Given the description of an element on the screen output the (x, y) to click on. 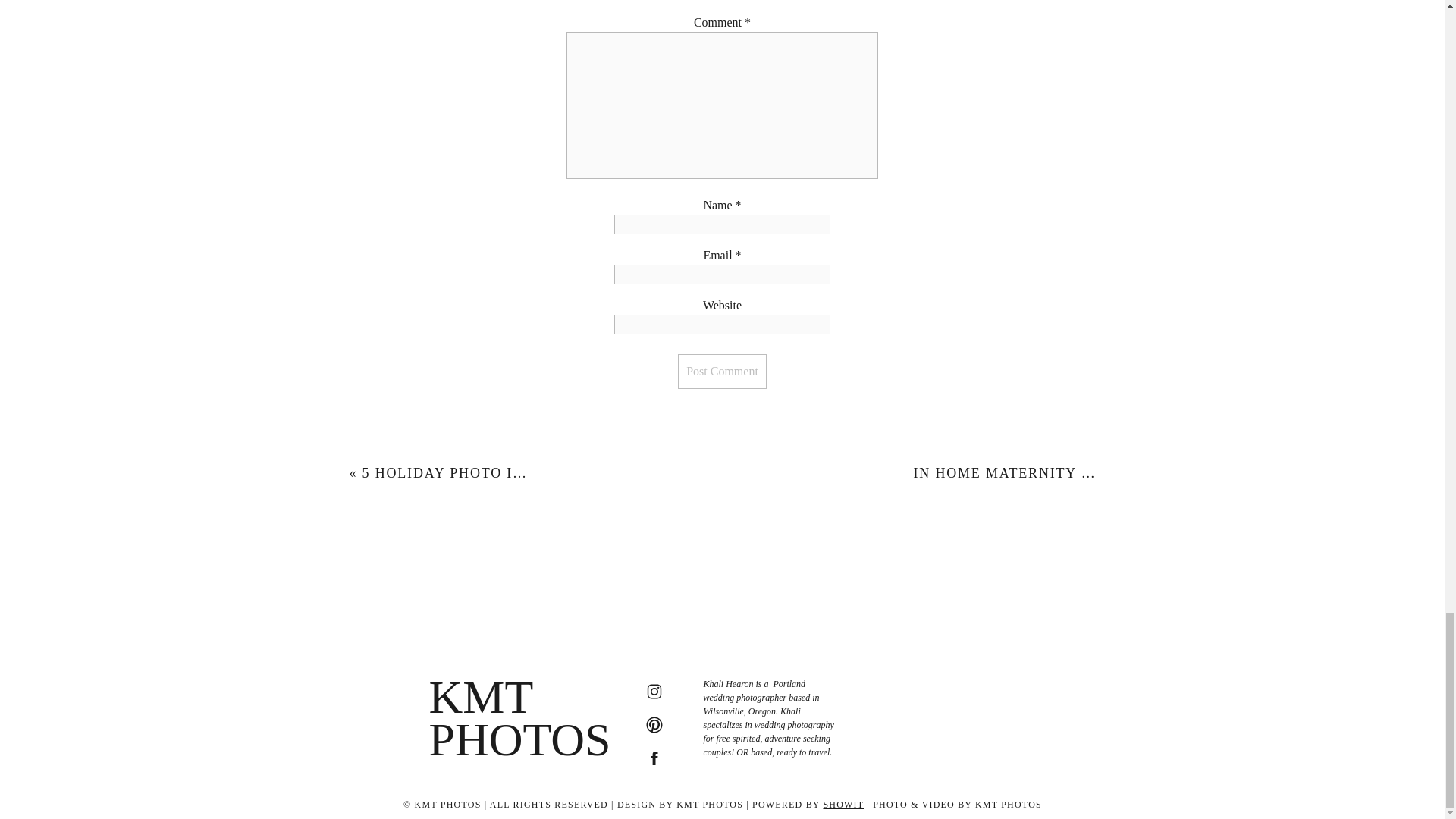
5 HOLIDAY PHOTO IDEAS FOR YOUR CHRISTMAS CARDS (576, 473)
Post Comment (722, 371)
IN HOME MATERNITY PHOTOS THAT WILL STEAL YOUR HEART (1149, 473)
Post Comment (722, 371)
SHOWIT (842, 804)
